Given the description of an element on the screen output the (x, y) to click on. 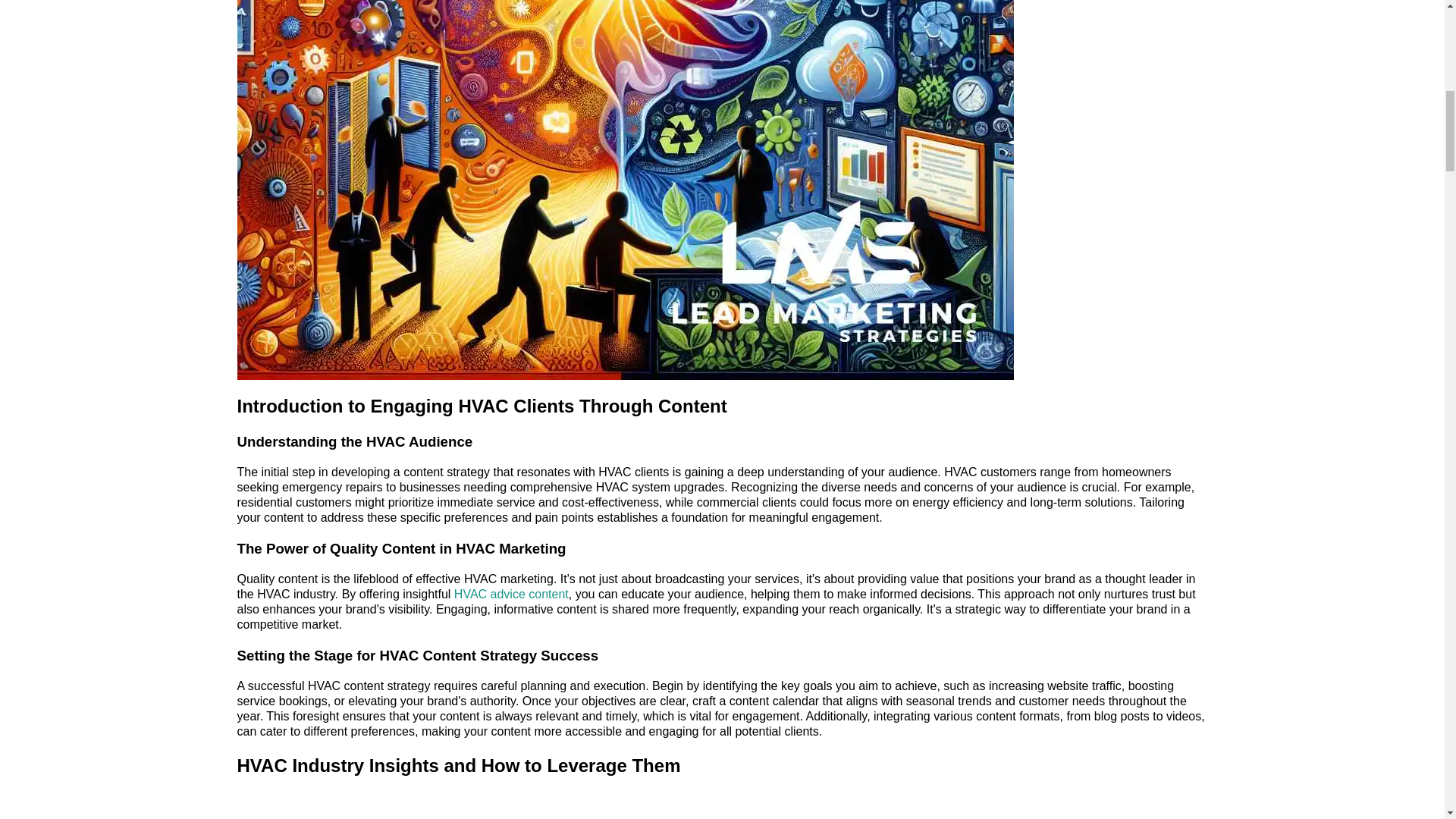
HVAC advice content (511, 594)
